Given the description of an element on the screen output the (x, y) to click on. 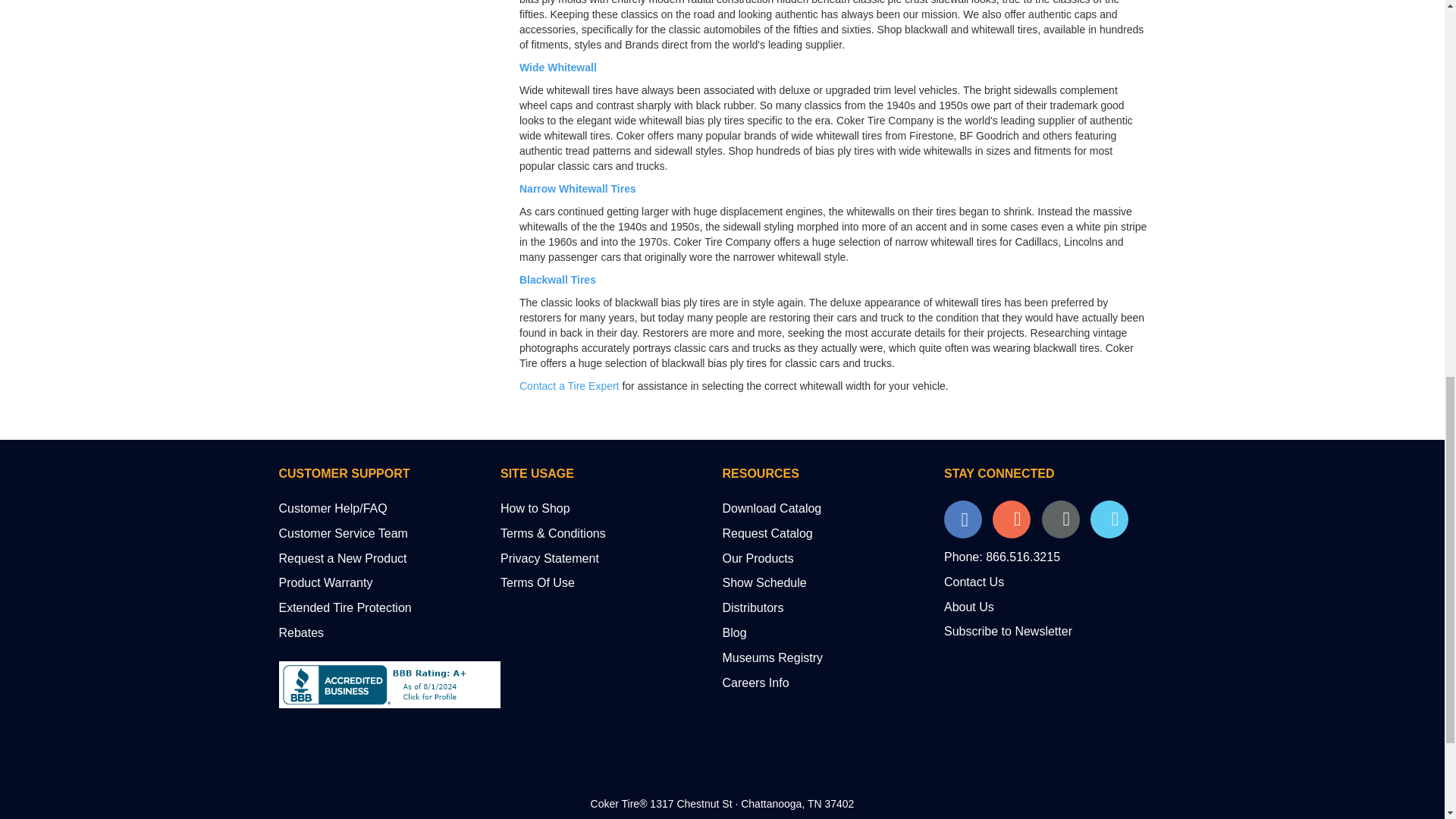
Contact a Tire Expert (569, 386)
